Given the description of an element on the screen output the (x, y) to click on. 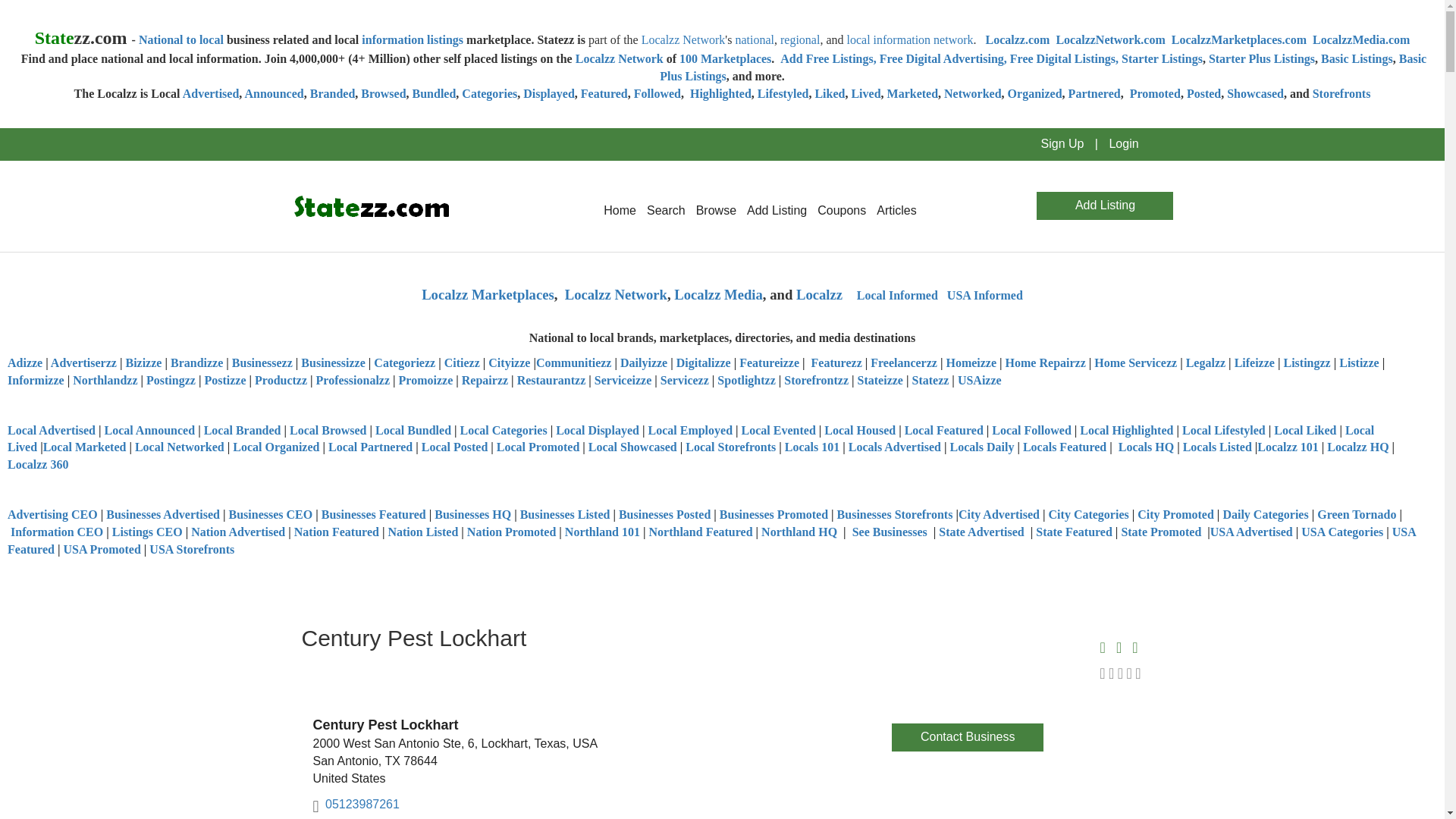
LocalzzMarketplaces.com (1239, 39)
Storefronts (1342, 92)
local information network (908, 39)
Featured (603, 92)
Partnered (1094, 92)
Categories (488, 92)
Bundled (434, 92)
Browsed (383, 92)
Promoted (1154, 92)
Starter Listings (1161, 58)
